Given the description of an element on the screen output the (x, y) to click on. 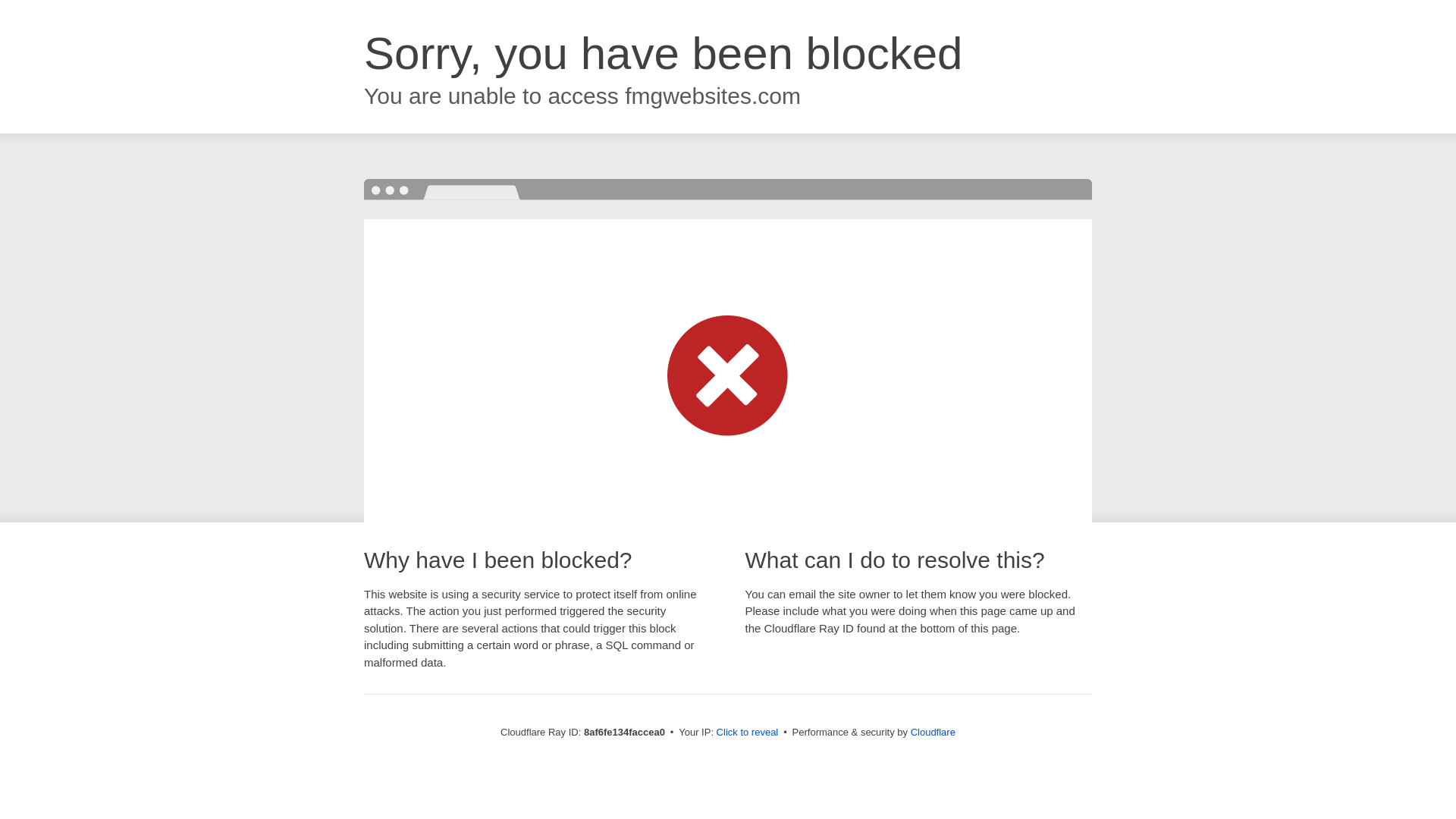
Cloudflare (933, 731)
Click to reveal (747, 732)
